Given the description of an element on the screen output the (x, y) to click on. 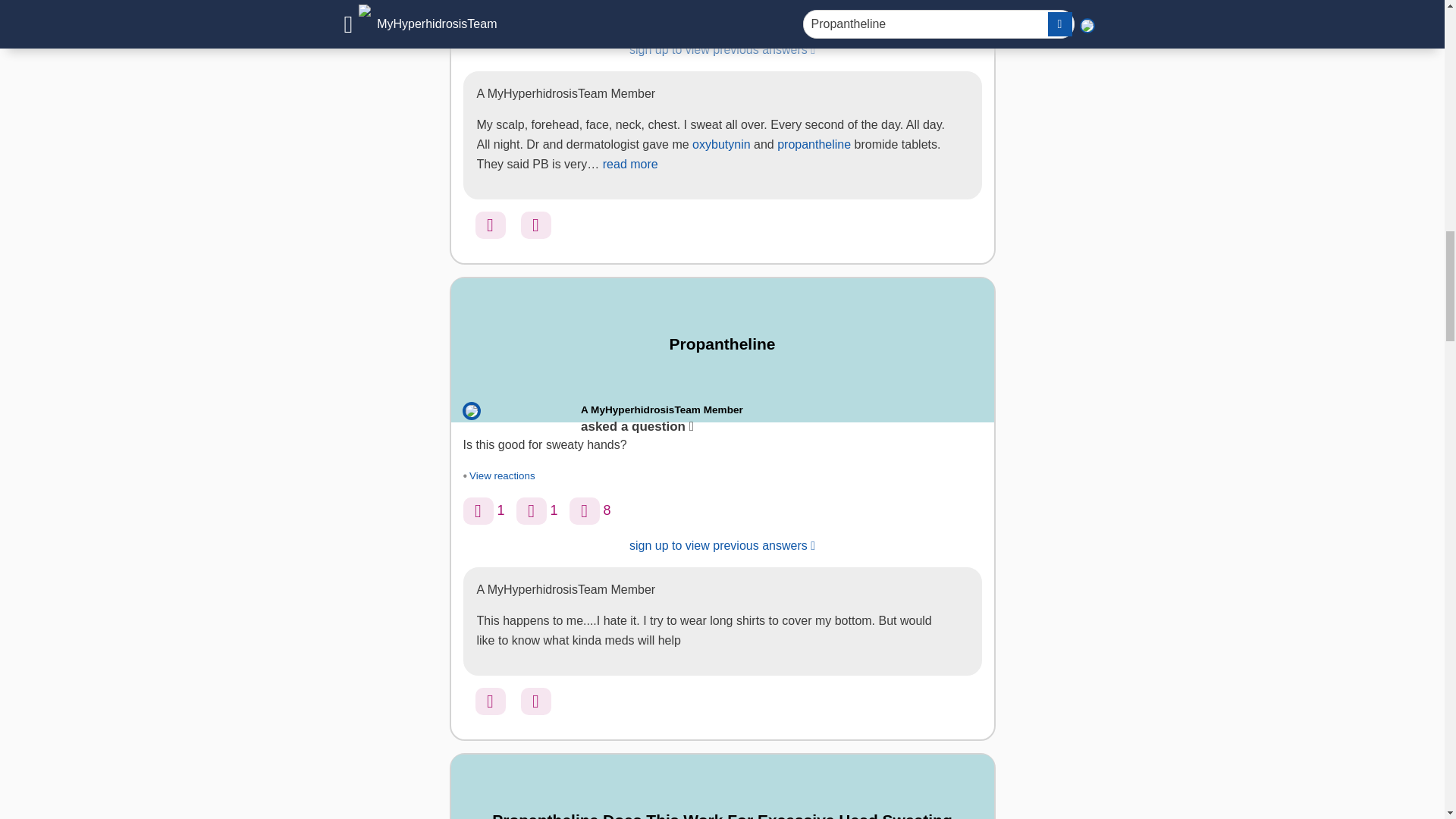
I like this (478, 510)
Send a hug (534, 225)
Add a comment (577, 14)
Add a comment (584, 510)
I like this (489, 700)
Send a hug (531, 510)
Send a hug (531, 14)
I like this (478, 14)
I like this (489, 225)
